Given the description of an element on the screen output the (x, y) to click on. 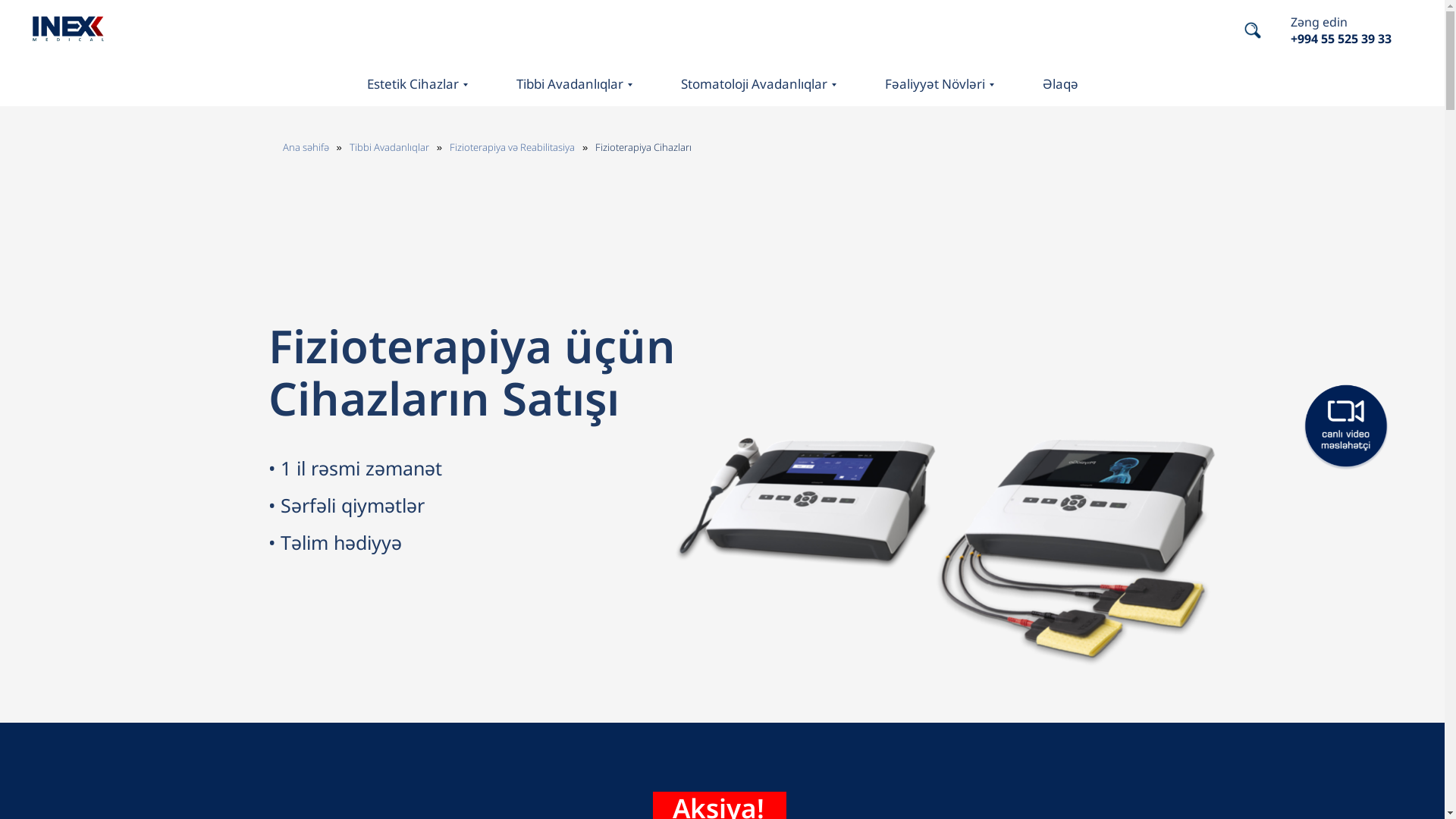
Estetik Cihazlar Element type: text (415, 83)
+994 55 525 39 33 Element type: text (1340, 38)
